Given the description of an element on the screen output the (x, y) to click on. 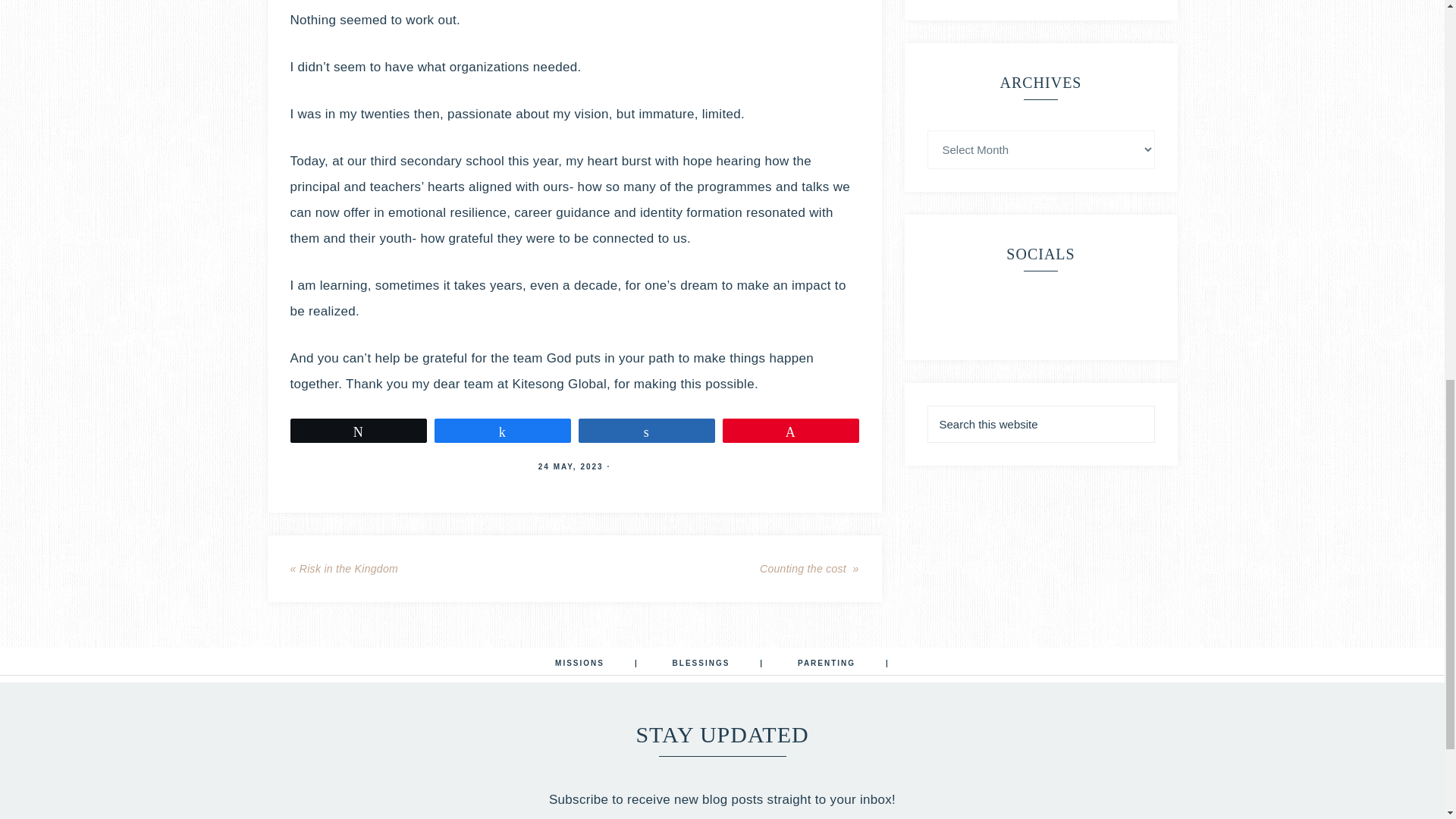
PARENTING (843, 664)
BLESSINGS (718, 664)
MISSIONS (596, 664)
